Given the description of an element on the screen output the (x, y) to click on. 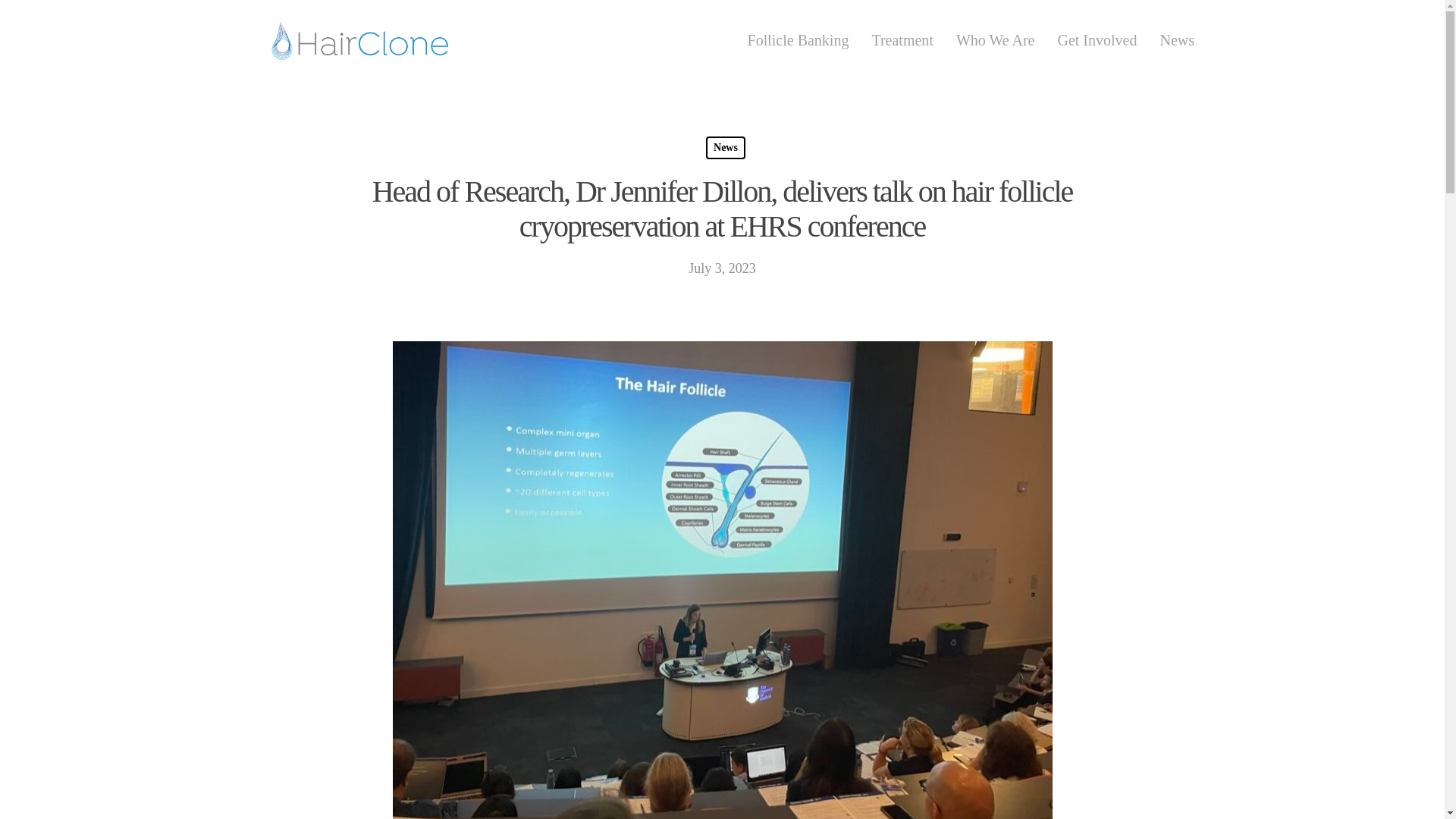
Who We Are (995, 38)
Get Involved (1097, 38)
Follicle Banking (798, 38)
Treatment (901, 38)
News (1175, 38)
News (725, 147)
